Given the description of an element on the screen output the (x, y) to click on. 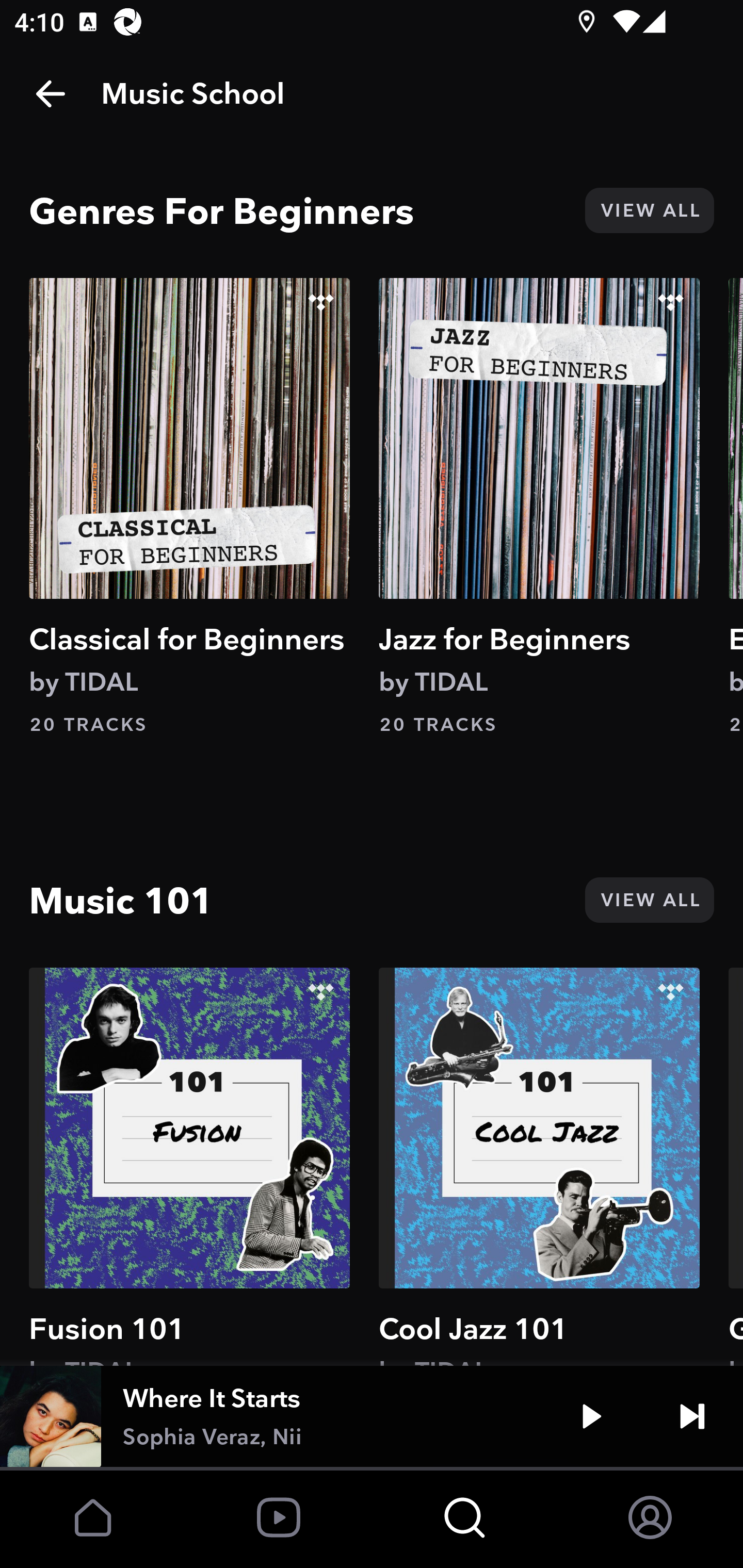
VIEW ALL (649, 210)
Classical for Beginners by TIDAL 20 TRACKS (188, 506)
Jazz for Beginners by TIDAL 20 TRACKS (538, 506)
VIEW ALL (649, 899)
Fusion 101 by TIDAL (188, 1166)
Cool Jazz 101 by TIDAL (538, 1166)
Where It Starts Sophia Veraz, Nii Play (371, 1416)
Play (590, 1416)
